Given the description of an element on the screen output the (x, y) to click on. 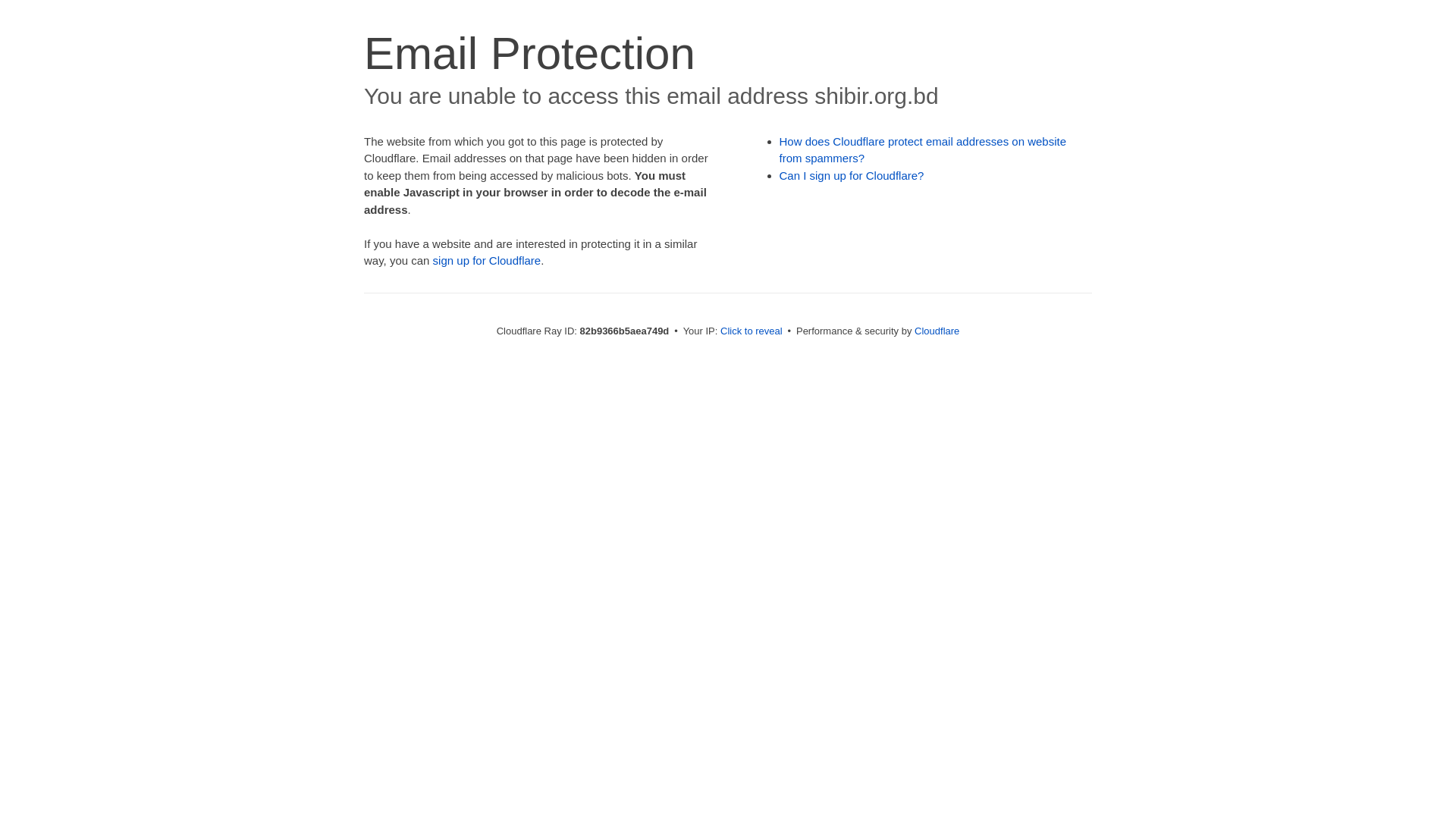
Click to reveal Element type: text (751, 330)
Can I sign up for Cloudflare? Element type: text (851, 175)
sign up for Cloudflare Element type: text (487, 260)
Cloudflare Element type: text (936, 330)
